Given the description of an element on the screen output the (x, y) to click on. 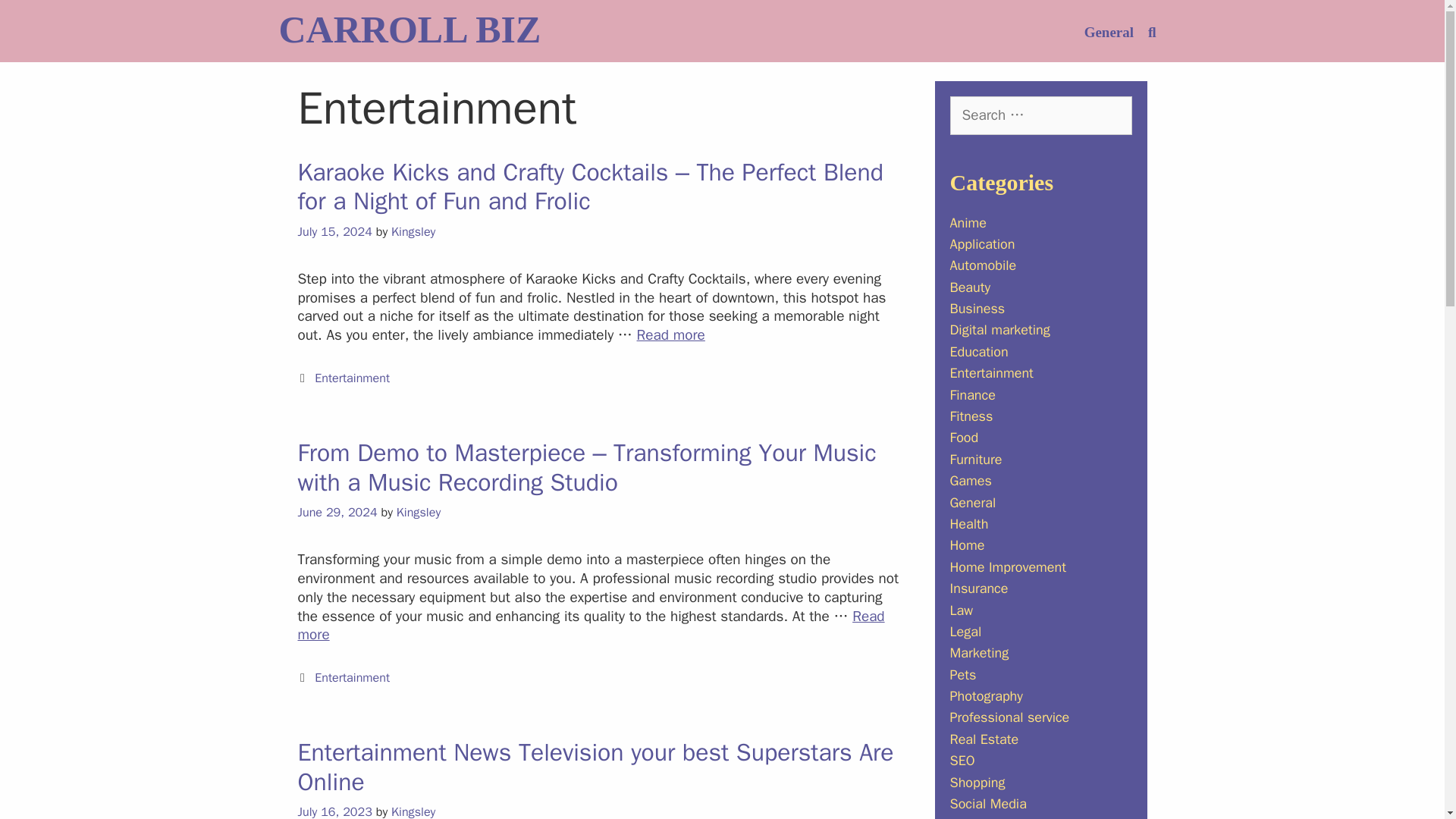
July 16, 2023 (334, 811)
Search (42, 27)
Kingsley (413, 231)
View all posts by Kingsley (413, 811)
Entertainment (352, 677)
CARROLL BIZ (410, 29)
July 15, 2024 (334, 231)
Entertainment (352, 377)
June 29, 2024 (337, 512)
7:48 am (334, 231)
